Given the description of an element on the screen output the (x, y) to click on. 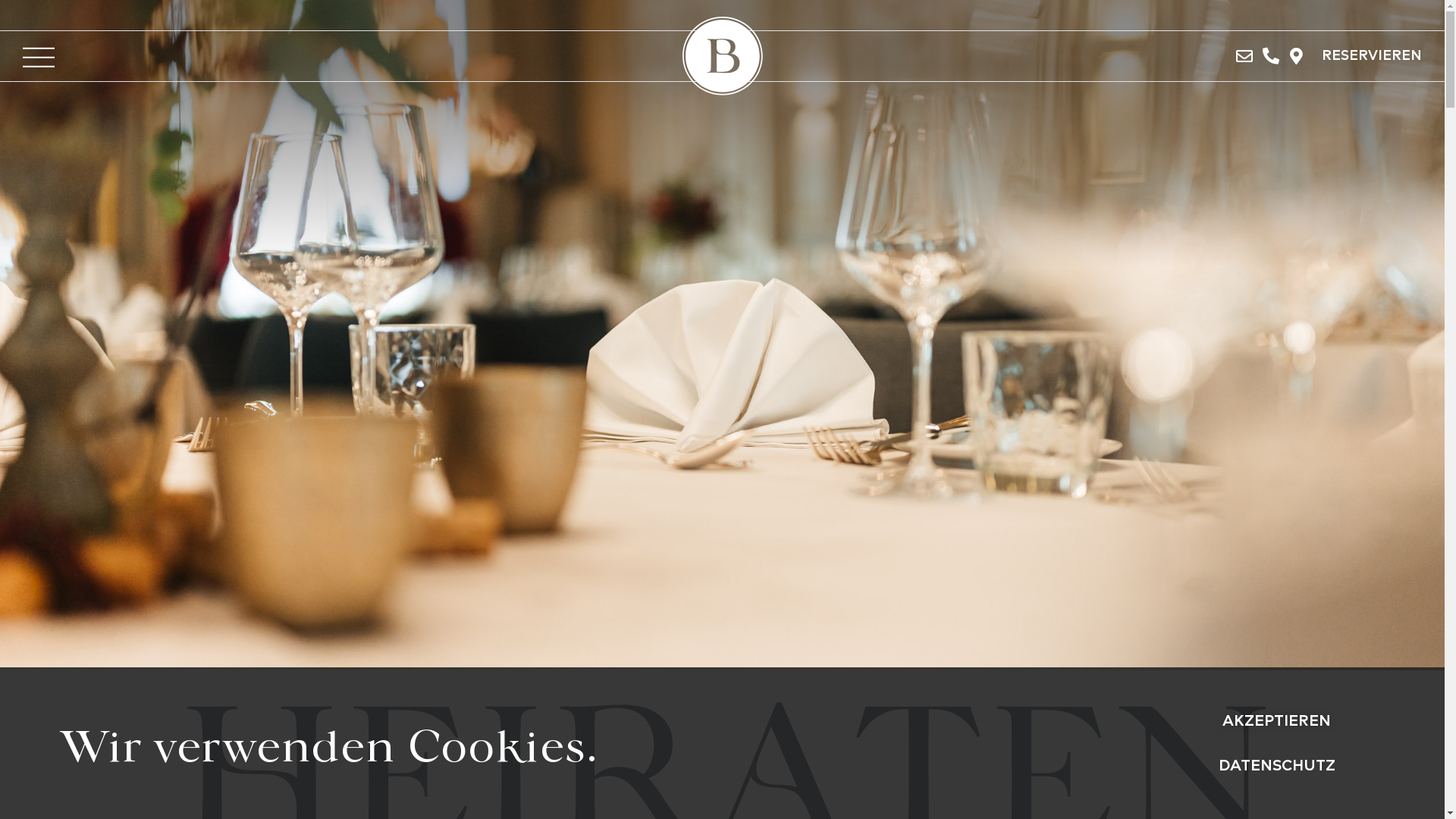
DATENSCHUTZ Element type: text (1276, 766)
AKZEPTIEREN Element type: text (1276, 721)
RESERVIEREN Element type: text (1371, 56)
